Given the description of an element on the screen output the (x, y) to click on. 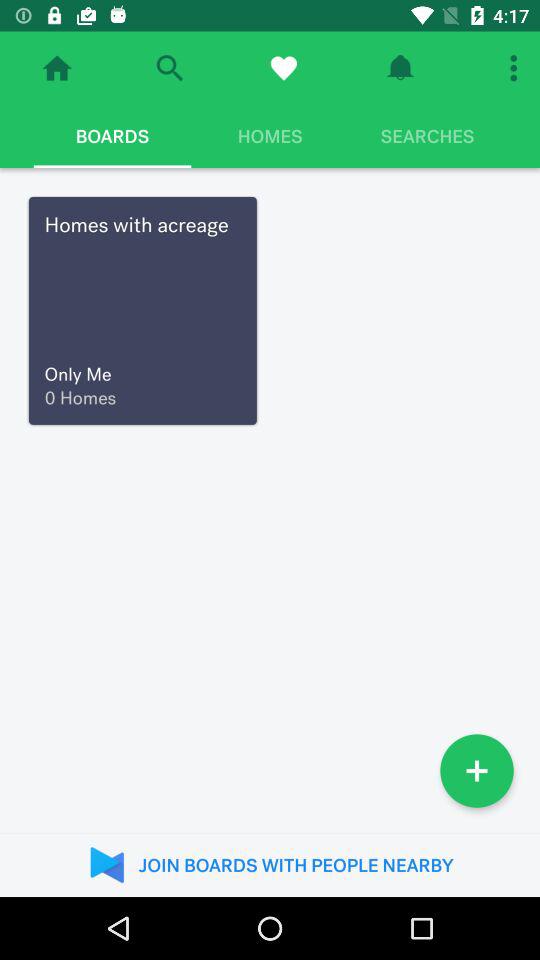
go to the home page (57, 68)
